Given the description of an element on the screen output the (x, y) to click on. 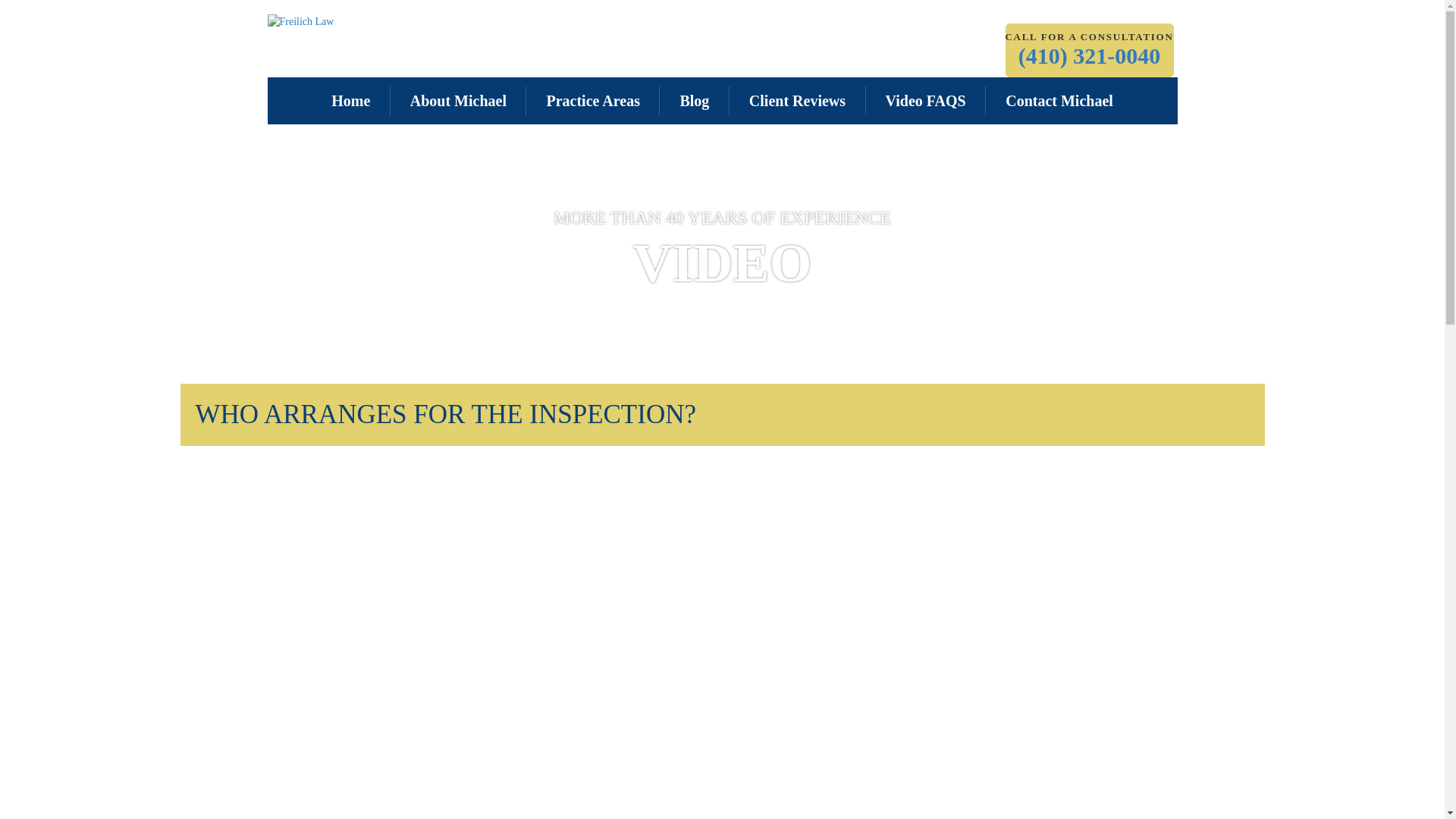
Video FAQS (924, 100)
Client Reviews (796, 100)
Home (350, 100)
Blog (694, 100)
About Michael (457, 100)
Contact Michael (1058, 100)
Freilich Law (299, 21)
Practice Areas (592, 100)
